Given the description of an element on the screen output the (x, y) to click on. 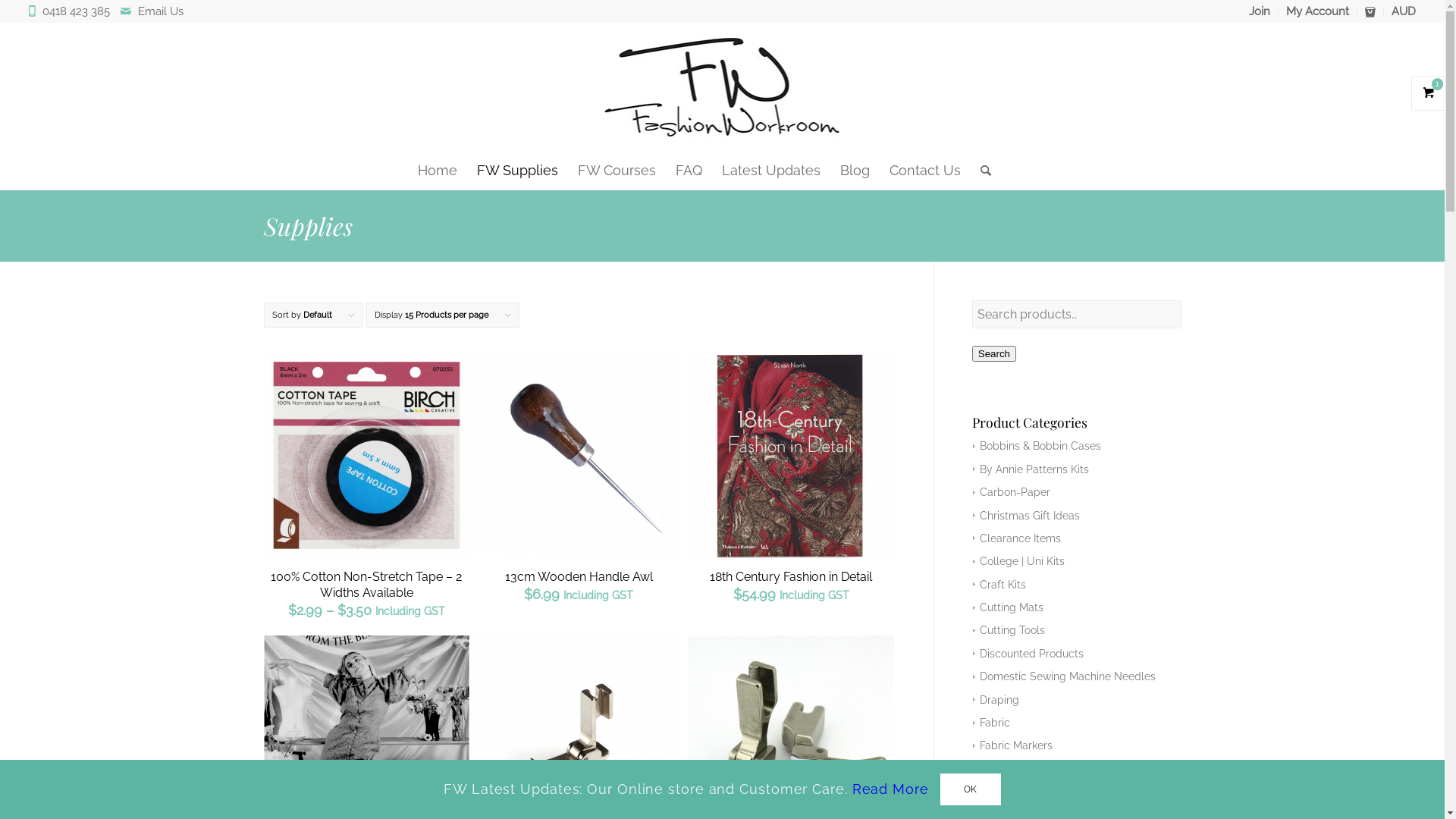
Fashion Books Element type: text (1010, 768)
Craft Kits Element type: text (999, 584)
OK Element type: text (970, 789)
Discounted Products Element type: text (1027, 653)
Cutting Mats Element type: text (1007, 607)
Read More Element type: text (890, 789)
Latest Updates Element type: text (771, 170)
fw Element type: hover (722, 86)
Fabric Element type: text (991, 722)
By Annie Patterns Kits Element type: text (1030, 469)
13cm Wooden Handle Awl
$6.99 Including GST Element type: text (578, 482)
Christmas Gift Ideas Element type: text (1025, 515)
Fashion Design Supplies Element type: text (1036, 791)
FW Courses Element type: text (616, 170)
FAQ Element type: text (688, 170)
1 Element type: text (1428, 92)
Draping Element type: text (995, 699)
Blog Element type: text (854, 170)
Contact Us Element type: text (924, 170)
Clearance Items Element type: text (1016, 538)
Carbon-Paper Element type: text (1011, 492)
FW Supplies Element type: text (517, 170)
Home Element type: text (437, 170)
Domestic Sewing Machine Needles Element type: text (1063, 676)
Search Element type: text (994, 353)
18th Century Fashion in Detail
$54.99 Including GST Element type: text (790, 482)
0418 423 385 Element type: text (79, 11)
Fabric Markers Element type: text (1012, 745)
Cutting Tools Element type: text (1008, 630)
College | Uni Kits Element type: text (1018, 561)
Bobbins & Bobbin Cases Element type: text (1036, 445)
Email Us Element type: text (160, 11)
